Given the description of an element on the screen output the (x, y) to click on. 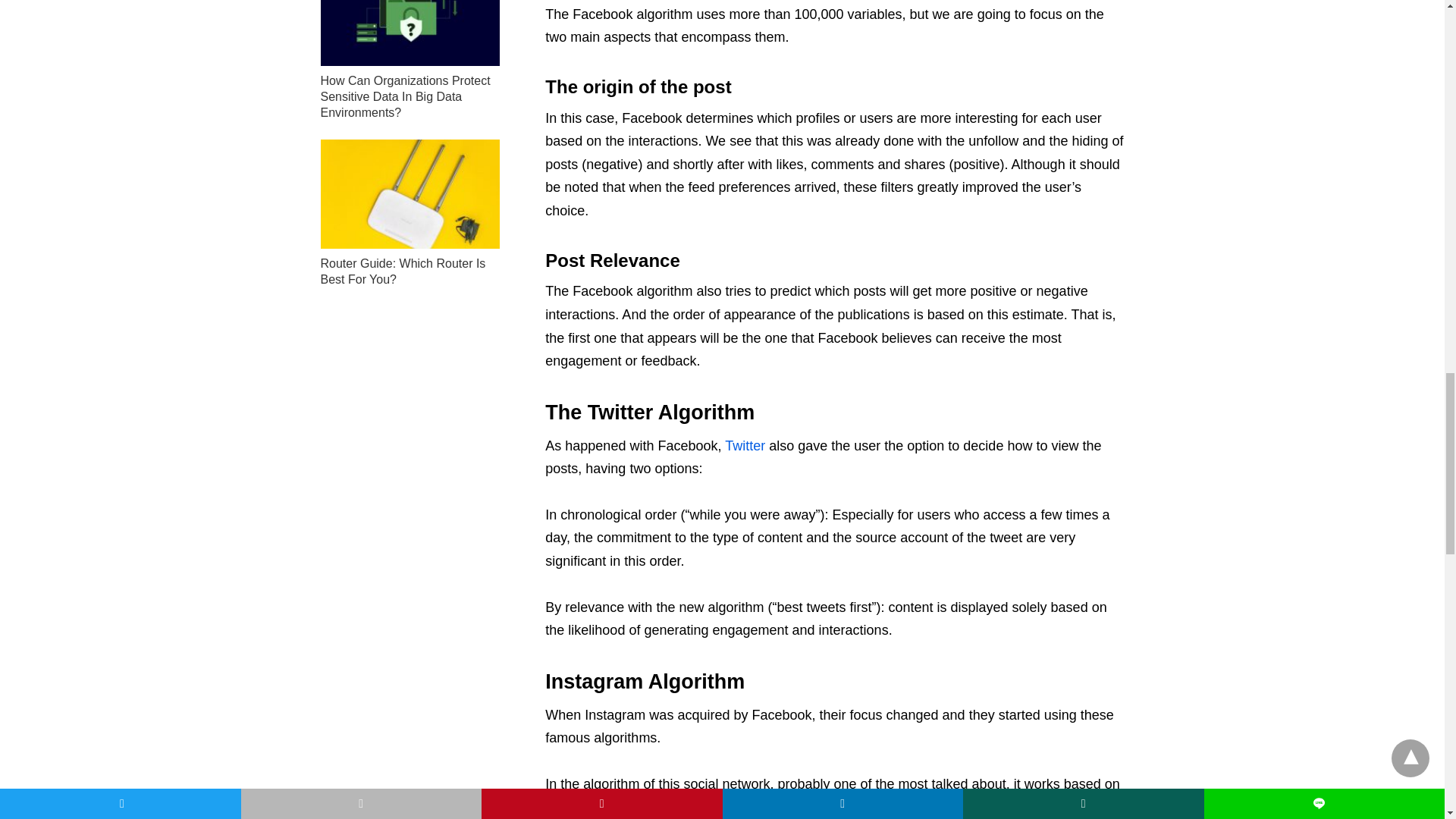
Router Guide: Which Router Is Best For You? (409, 193)
Twitter (745, 445)
Router Guide: Which Router Is Best For You? (402, 271)
Router Guide: Which Router Is Best For You? (402, 271)
